Given the description of an element on the screen output the (x, y) to click on. 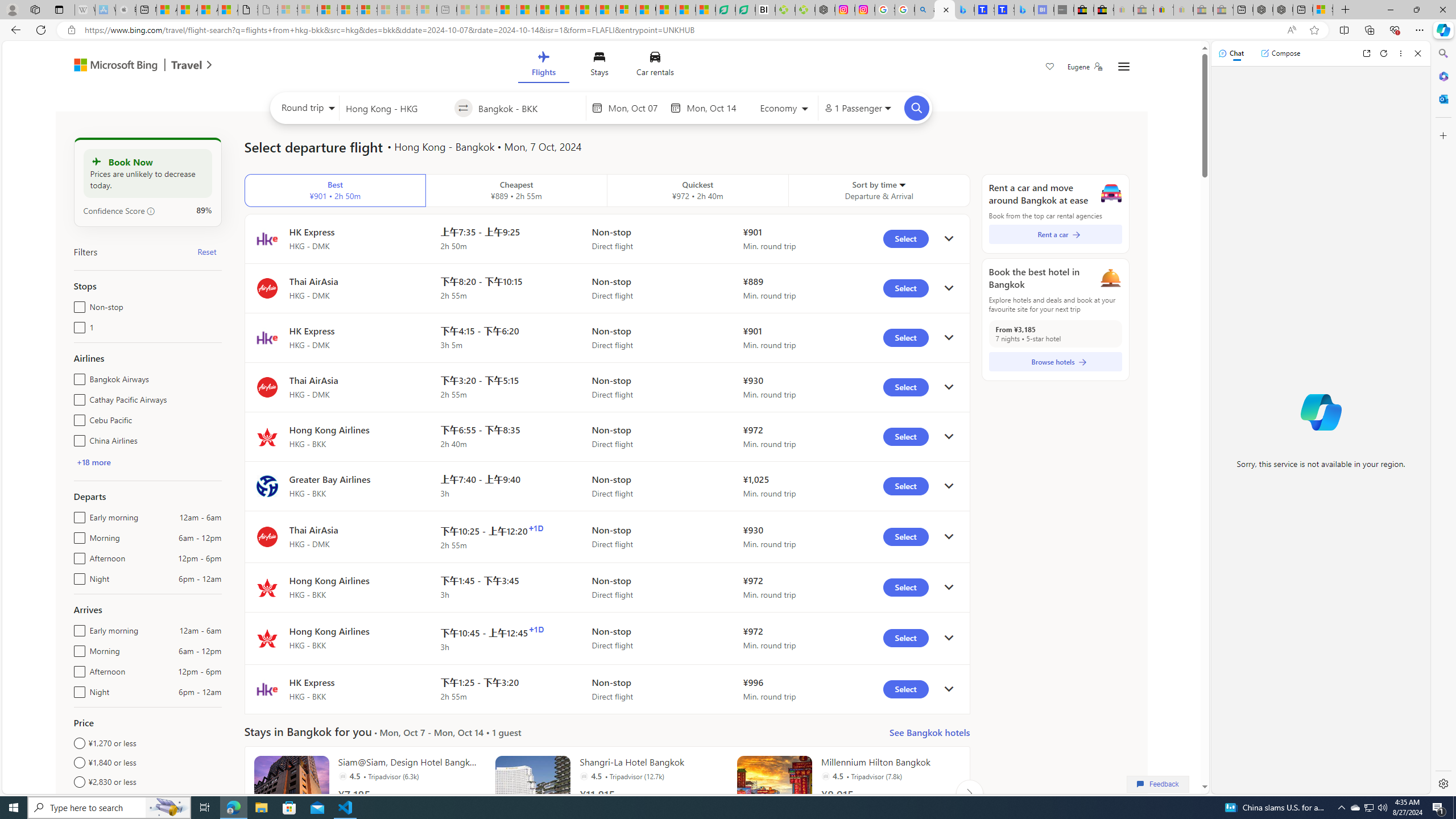
Microsoft Bing Travel (130, 65)
Bangkok Airways (76, 376)
Sort by time Sorter Departure & Arrival (879, 190)
Car rentals (654, 65)
Sorter (901, 184)
End date (713, 107)
Marine life - MSN - Sleeping (486, 9)
Nordace - Nordace Edin Collection (825, 9)
